Given the description of an element on the screen output the (x, y) to click on. 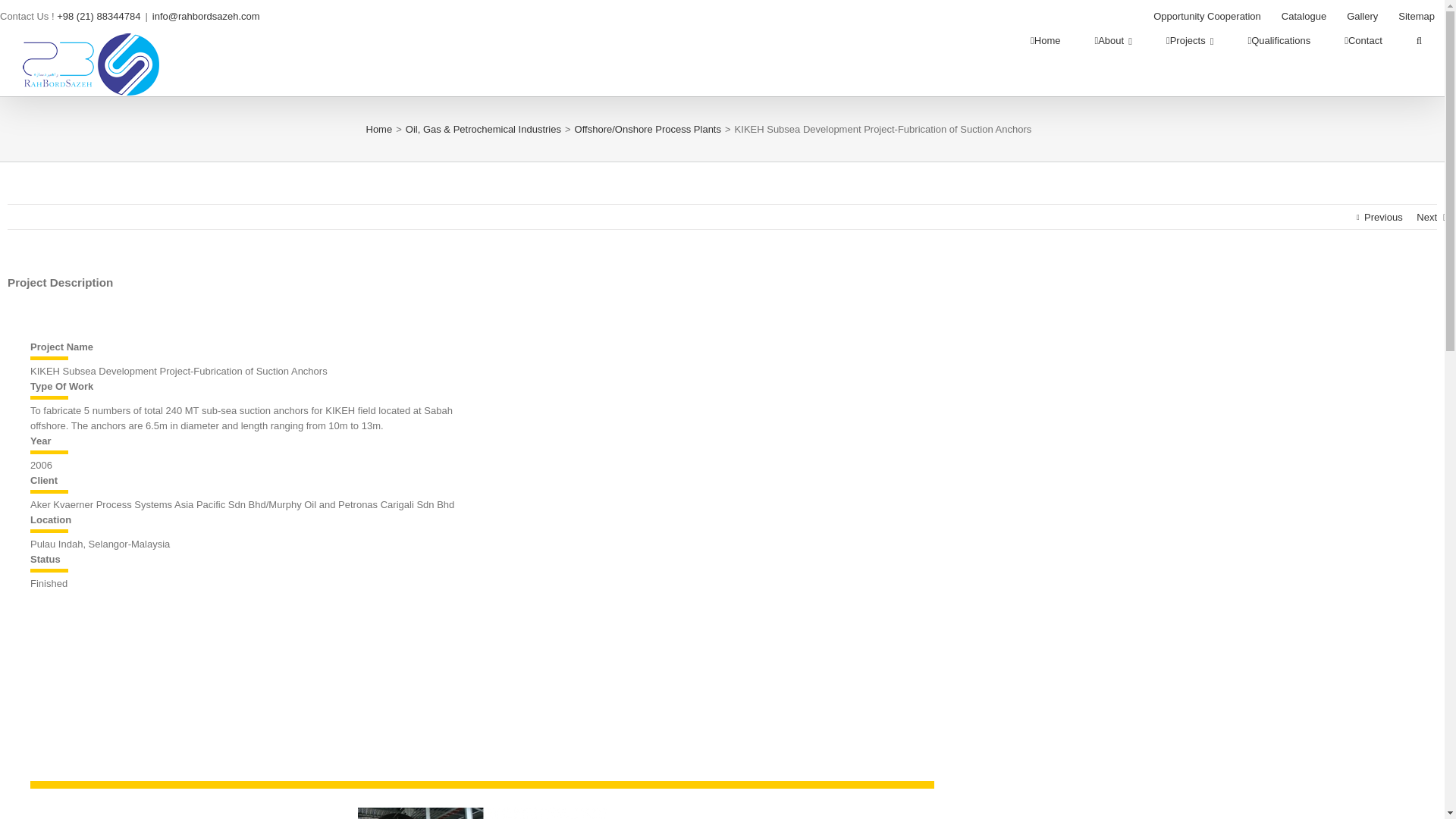
Projects (1189, 41)
About (1112, 41)
Home (1044, 40)
Gallery (1361, 16)
Qualifications (1278, 40)
Opportunity Cooperation (1206, 16)
Contact (1362, 40)
Sitemap (1416, 16)
Catalogue (1303, 16)
